Given the description of an element on the screen output the (x, y) to click on. 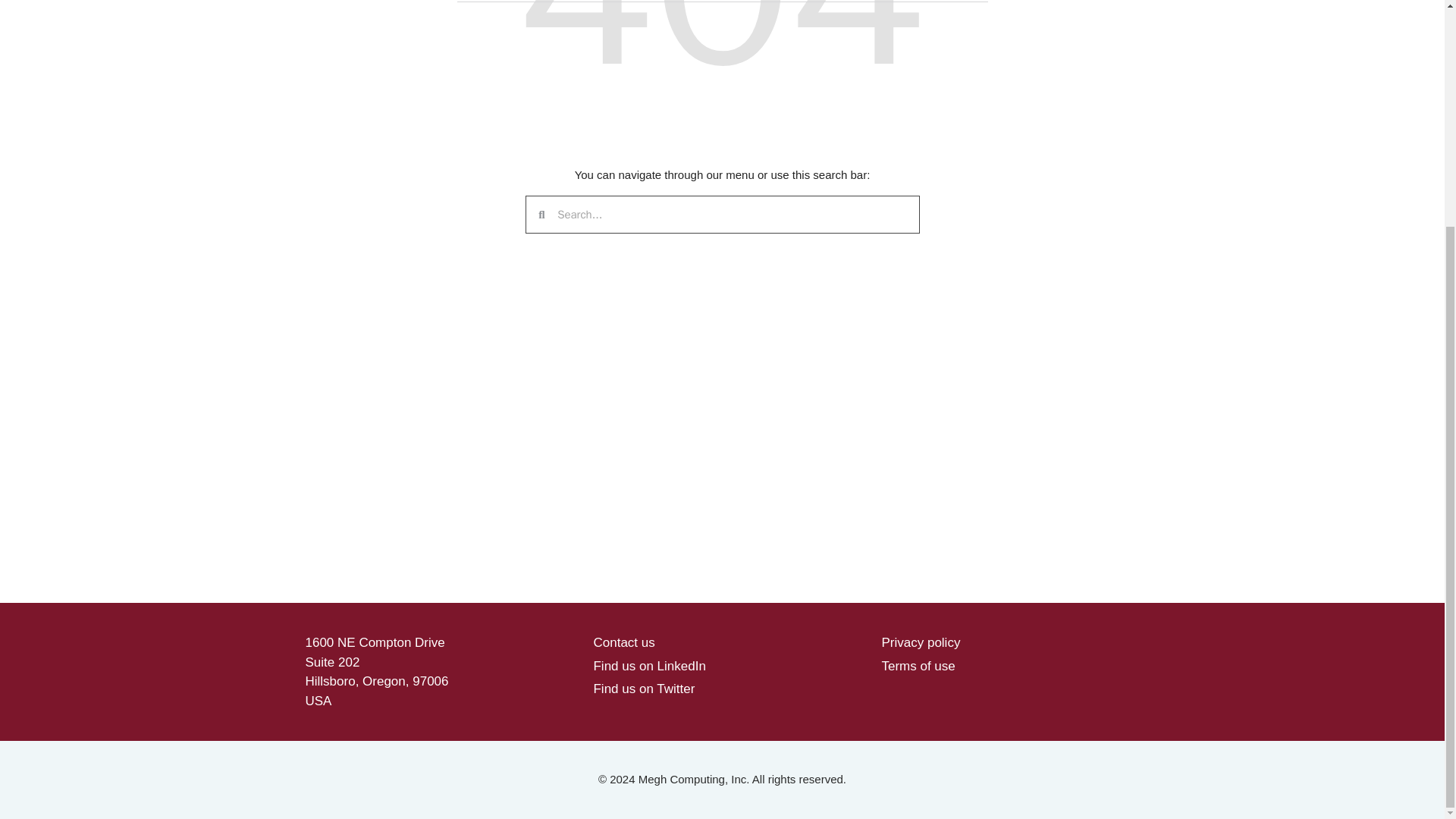
Terms of use (917, 665)
Contact us (622, 642)
Privacy policy (919, 642)
Find us on LinkedIn (648, 665)
Find us on Twitter (643, 688)
